Given the description of an element on the screen output the (x, y) to click on. 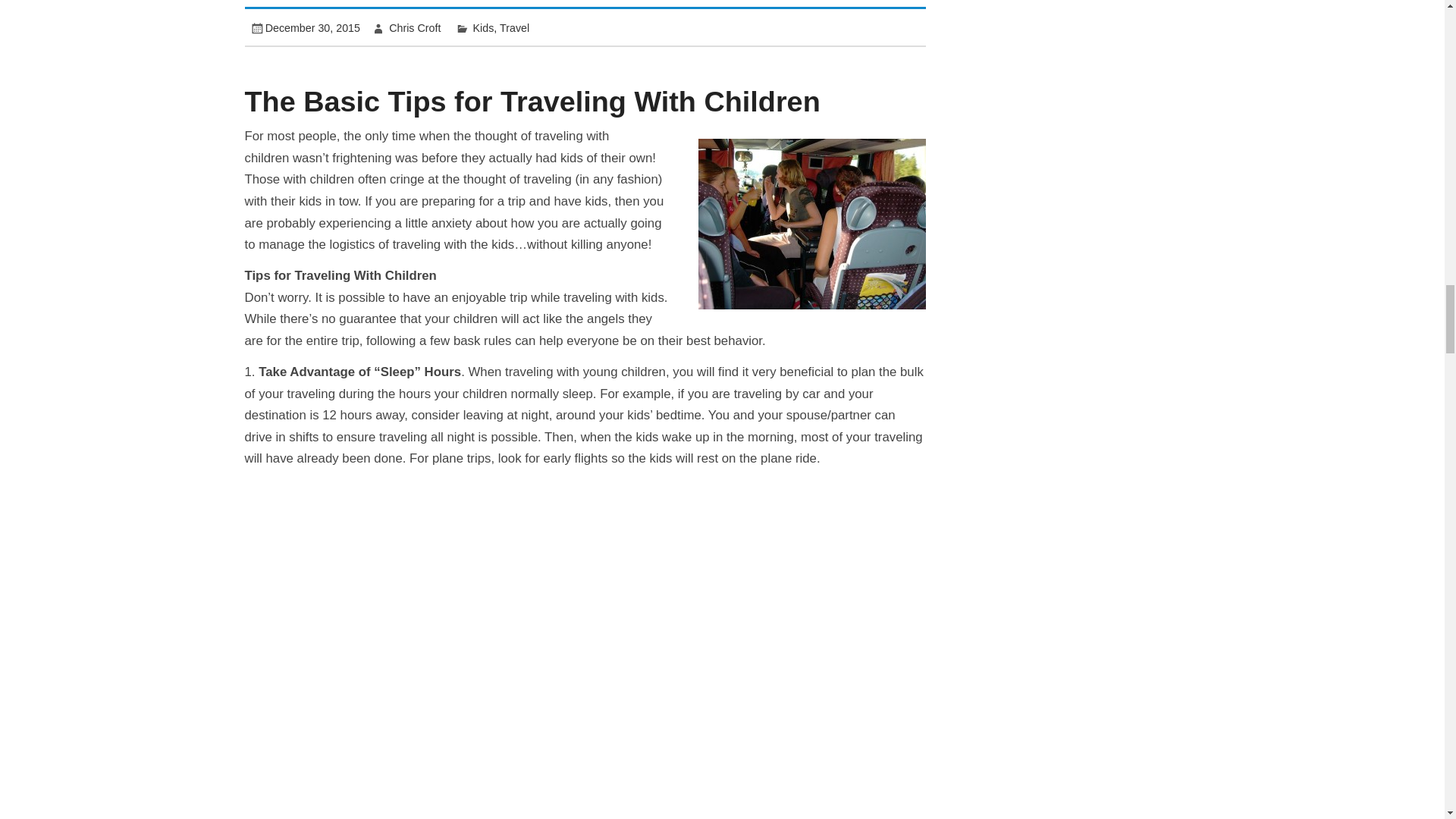
Kids (484, 28)
Travel (514, 28)
4:56 pm (311, 28)
Chris Croft (414, 28)
December 30, 2015 (311, 28)
View all posts by Chris Croft (414, 28)
